Given the description of an element on the screen output the (x, y) to click on. 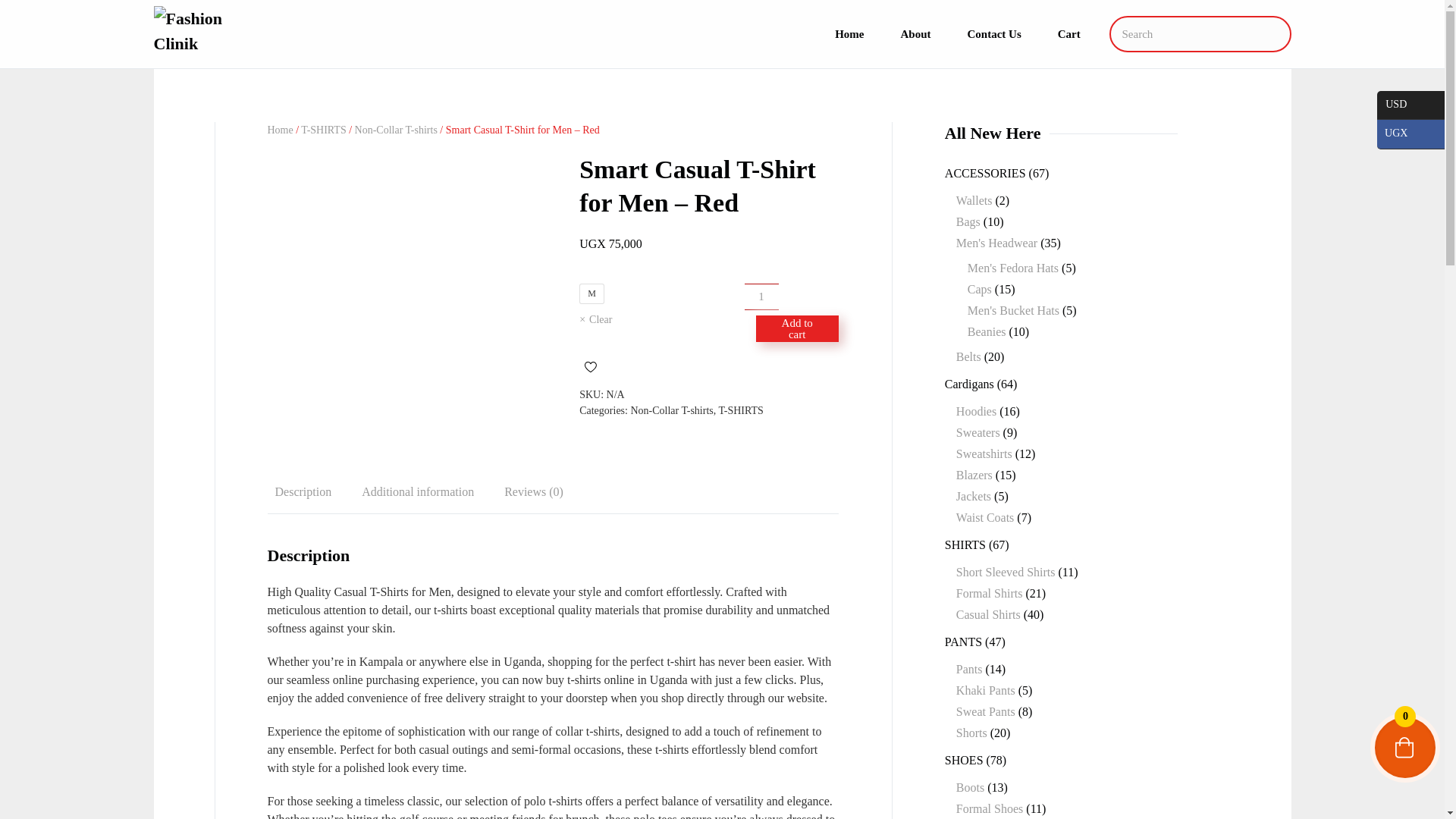
Home (279, 129)
Non-Collar T-shirts (671, 410)
Additional information (417, 492)
Clear (661, 319)
Add to cart (796, 328)
Description (302, 492)
Non-Collar T-shirts (396, 129)
Qty (761, 296)
T-SHIRTS (739, 410)
1 (761, 296)
Contact Us (994, 33)
0 (1404, 747)
T-SHIRTS (323, 129)
